Given the description of an element on the screen output the (x, y) to click on. 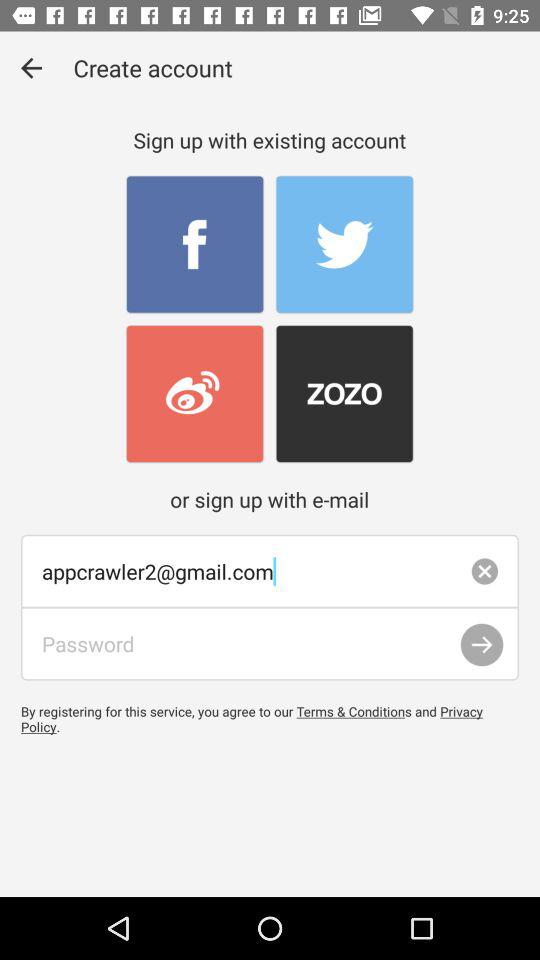
submit (482, 644)
